Given the description of an element on the screen output the (x, y) to click on. 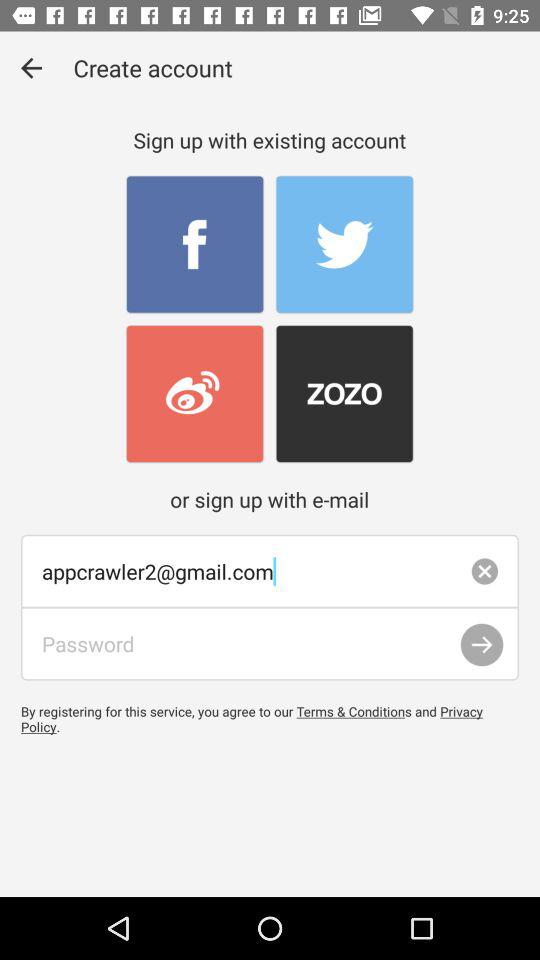
submit (482, 644)
